Given the description of an element on the screen output the (x, y) to click on. 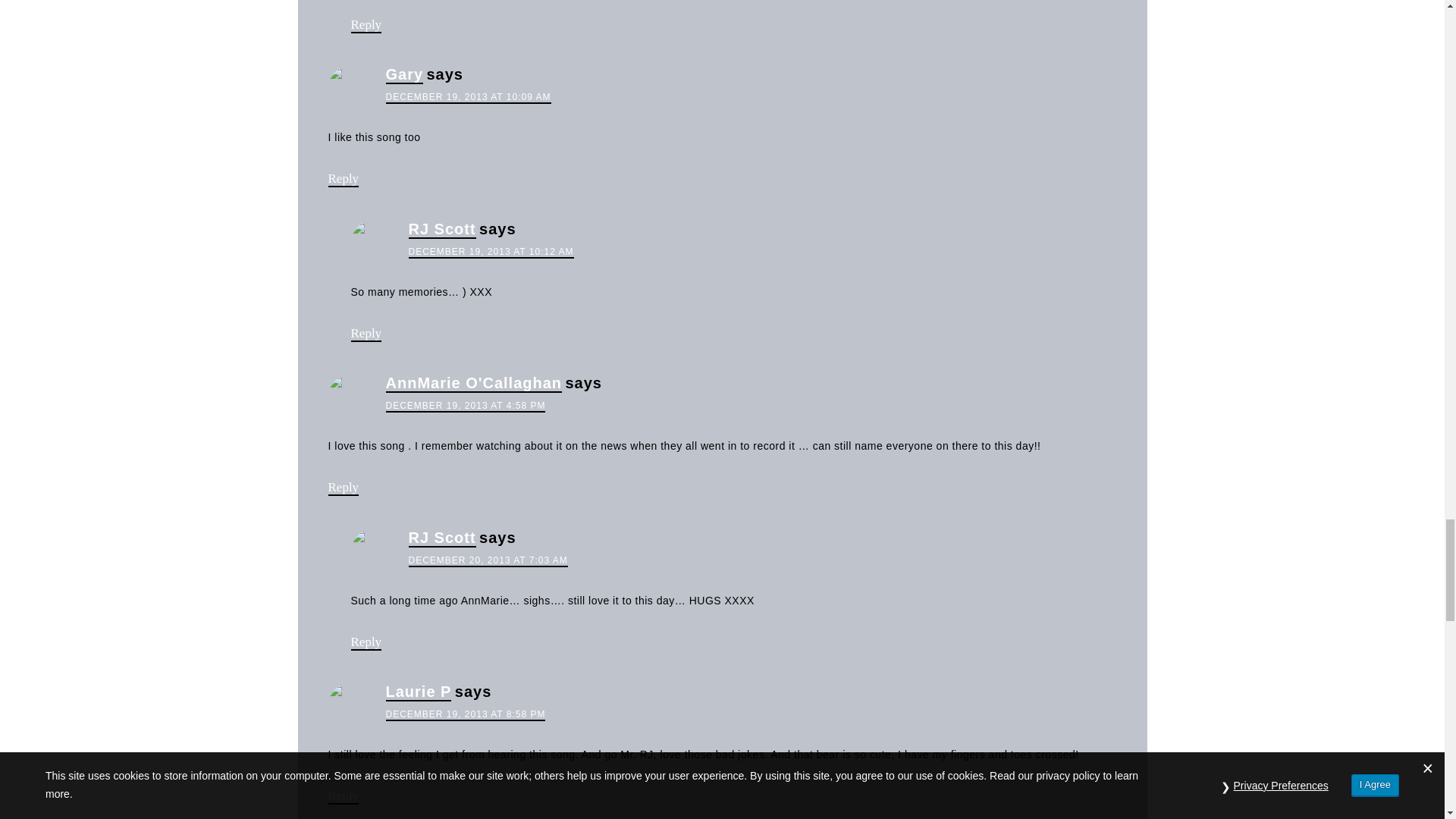
RJ Scott (441, 229)
Reply (365, 333)
Reply (365, 25)
AnnMarie O'Callaghan (473, 383)
DECEMBER 19, 2013 AT 10:09 AM (467, 97)
Gary (404, 75)
Reply (342, 179)
DECEMBER 19, 2013 AT 10:12 AM (490, 252)
DECEMBER 19, 2013 AT 4:58 PM (464, 406)
